Given the description of an element on the screen output the (x, y) to click on. 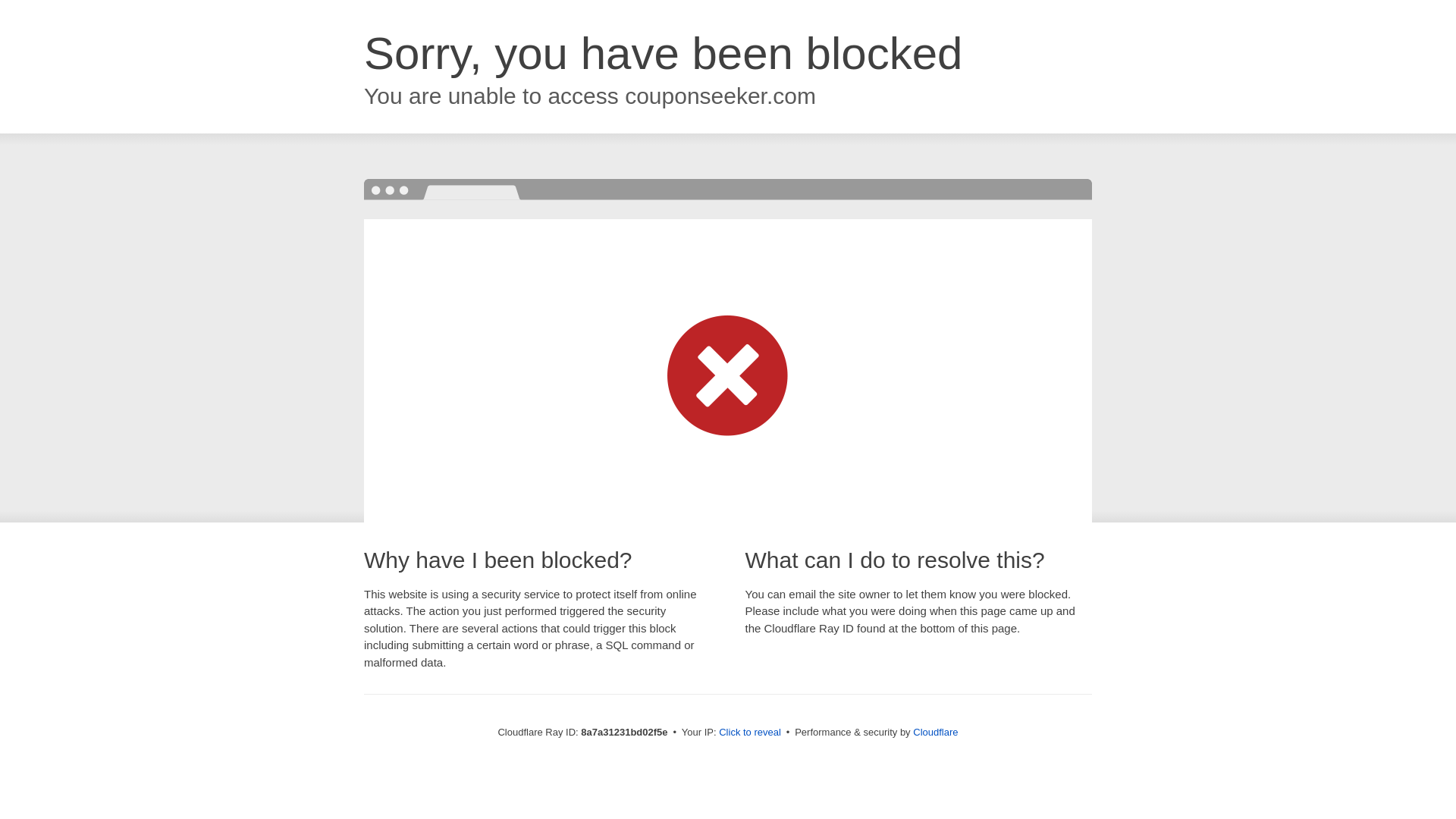
Click to reveal (749, 732)
Cloudflare (935, 731)
